Given the description of an element on the screen output the (x, y) to click on. 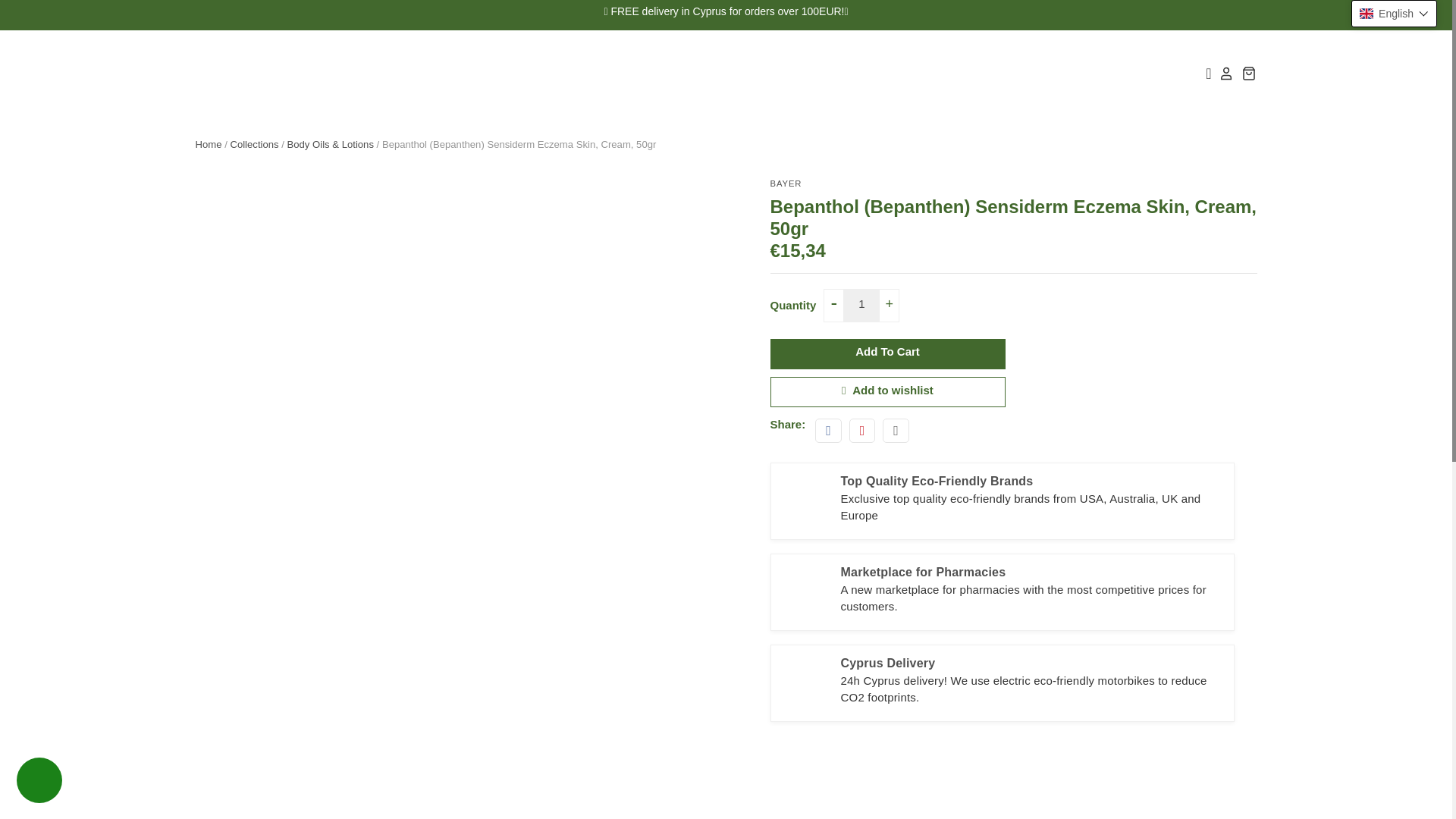
Shopify online store chat (38, 781)
Add to cart (888, 354)
1 (861, 305)
